Given the description of an element on the screen output the (x, y) to click on. 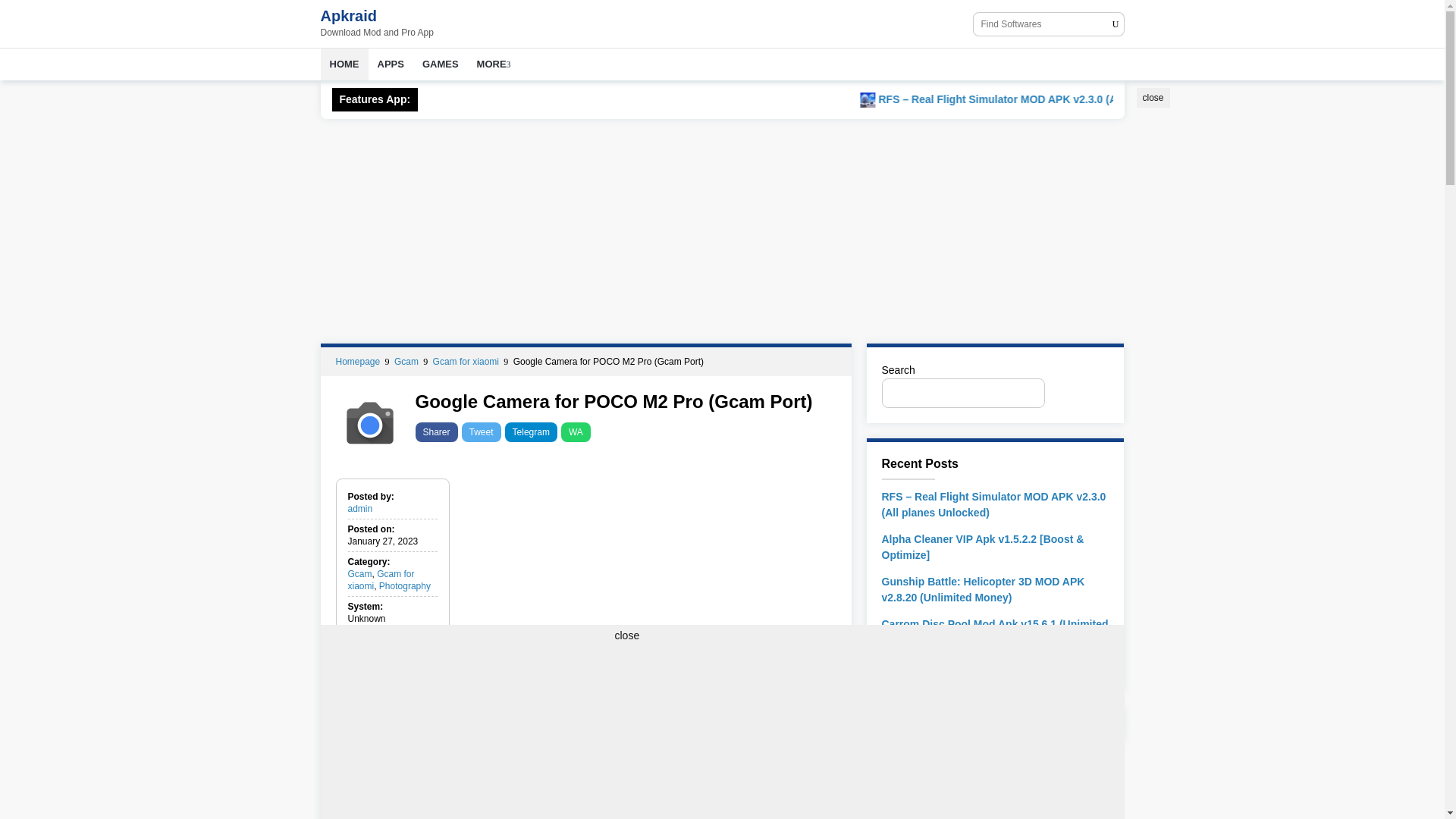
admin (359, 508)
Sharer (436, 432)
Gcam for xiaomi (380, 579)
Homepage (357, 361)
HOME (344, 64)
Telegram (531, 432)
close (1152, 97)
close (1152, 97)
Apkraid (347, 15)
GAMES (440, 64)
Tweet (480, 432)
Apkraid (347, 15)
Gcam (407, 361)
Photography (404, 585)
Gcam for xiaomi (467, 361)
